Given the description of an element on the screen output the (x, y) to click on. 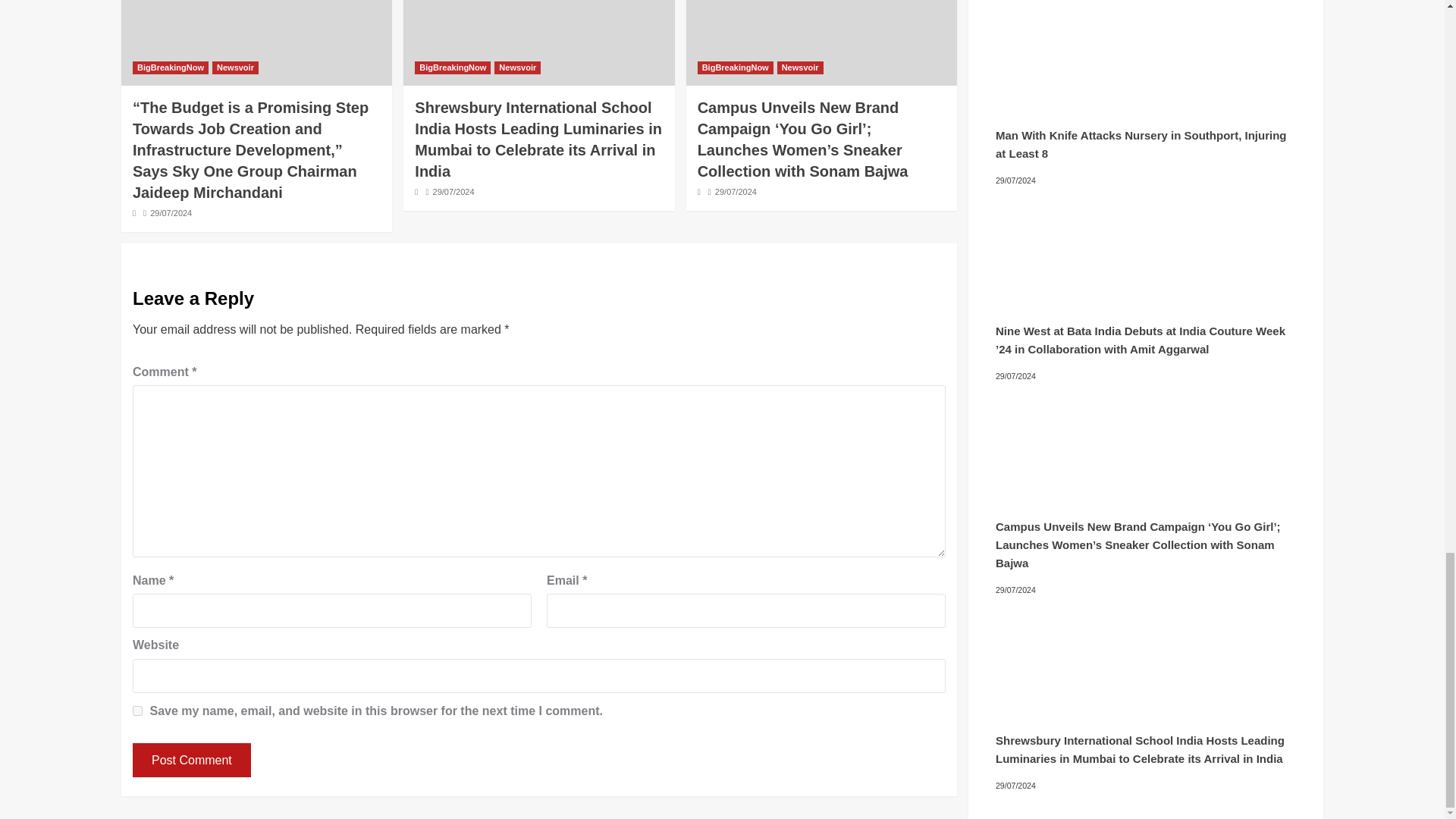
yes (137, 710)
Post Comment (191, 759)
